Given the description of an element on the screen output the (x, y) to click on. 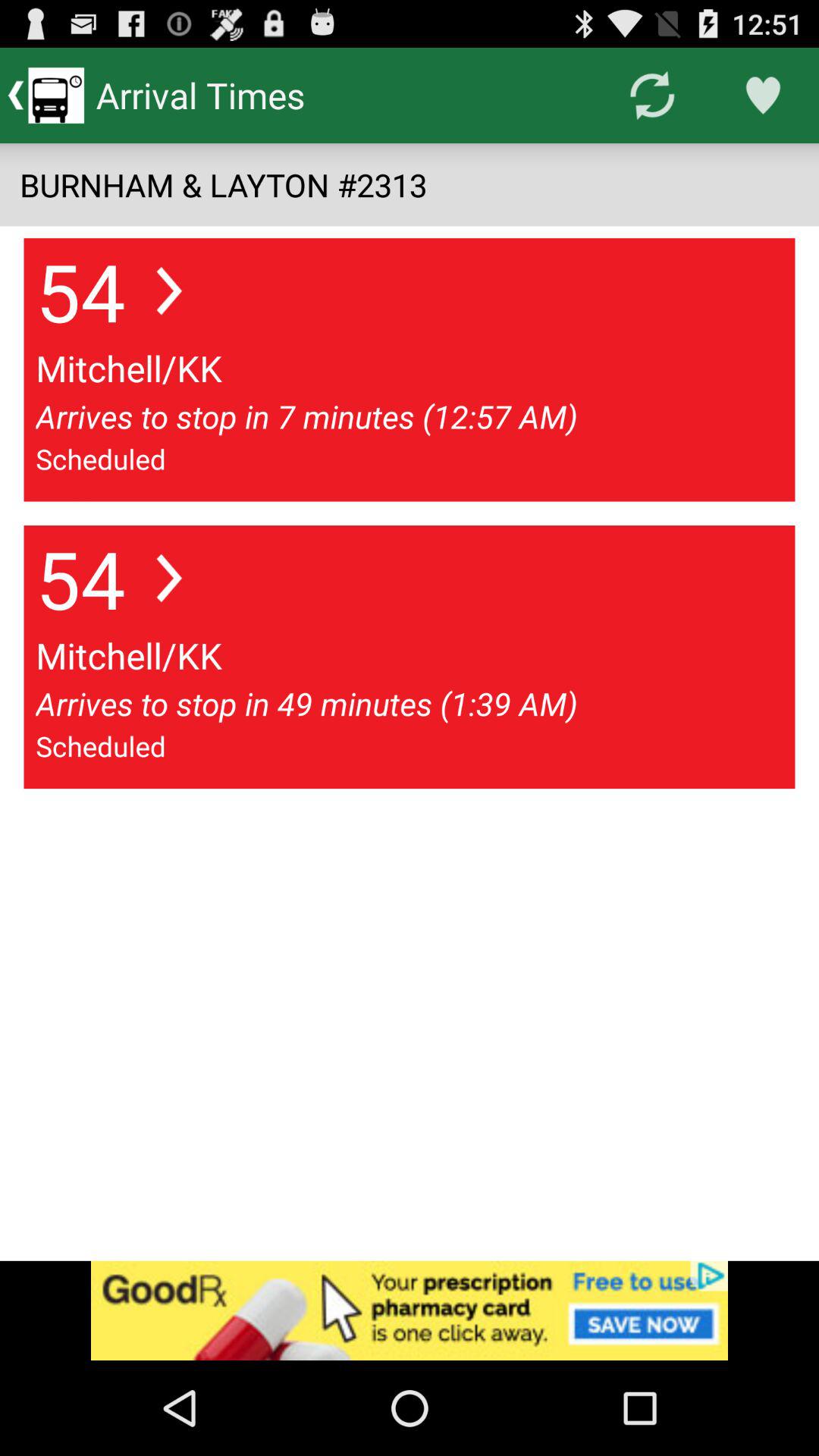
advertisement link to different site (409, 1310)
